Given the description of an element on the screen output the (x, y) to click on. 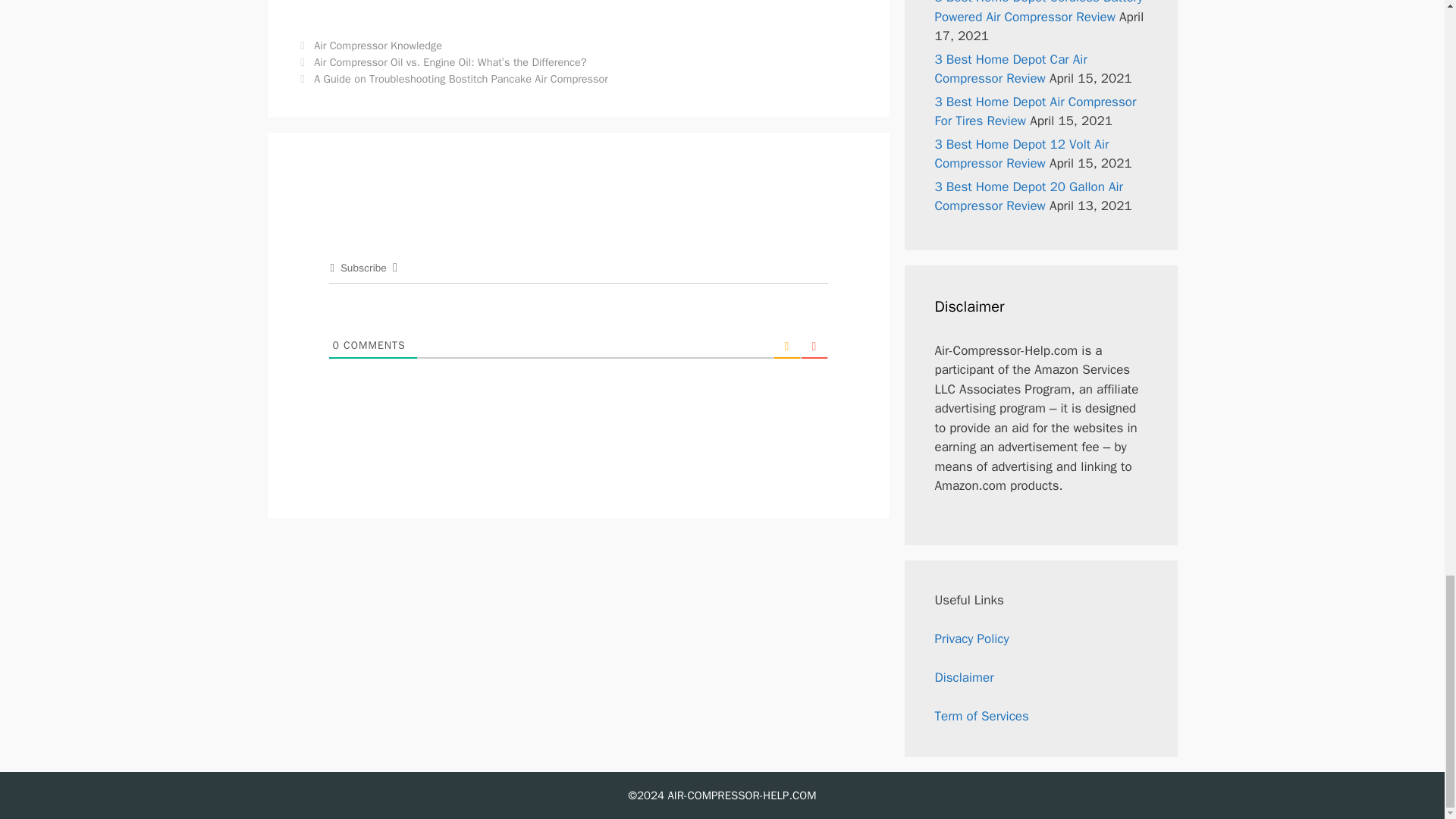
A Guide on Troubleshooting Bostitch Pancake Air Compressor (461, 78)
Air Compressor Knowledge (378, 45)
Next (452, 78)
Previous (441, 61)
